Given the description of an element on the screen output the (x, y) to click on. 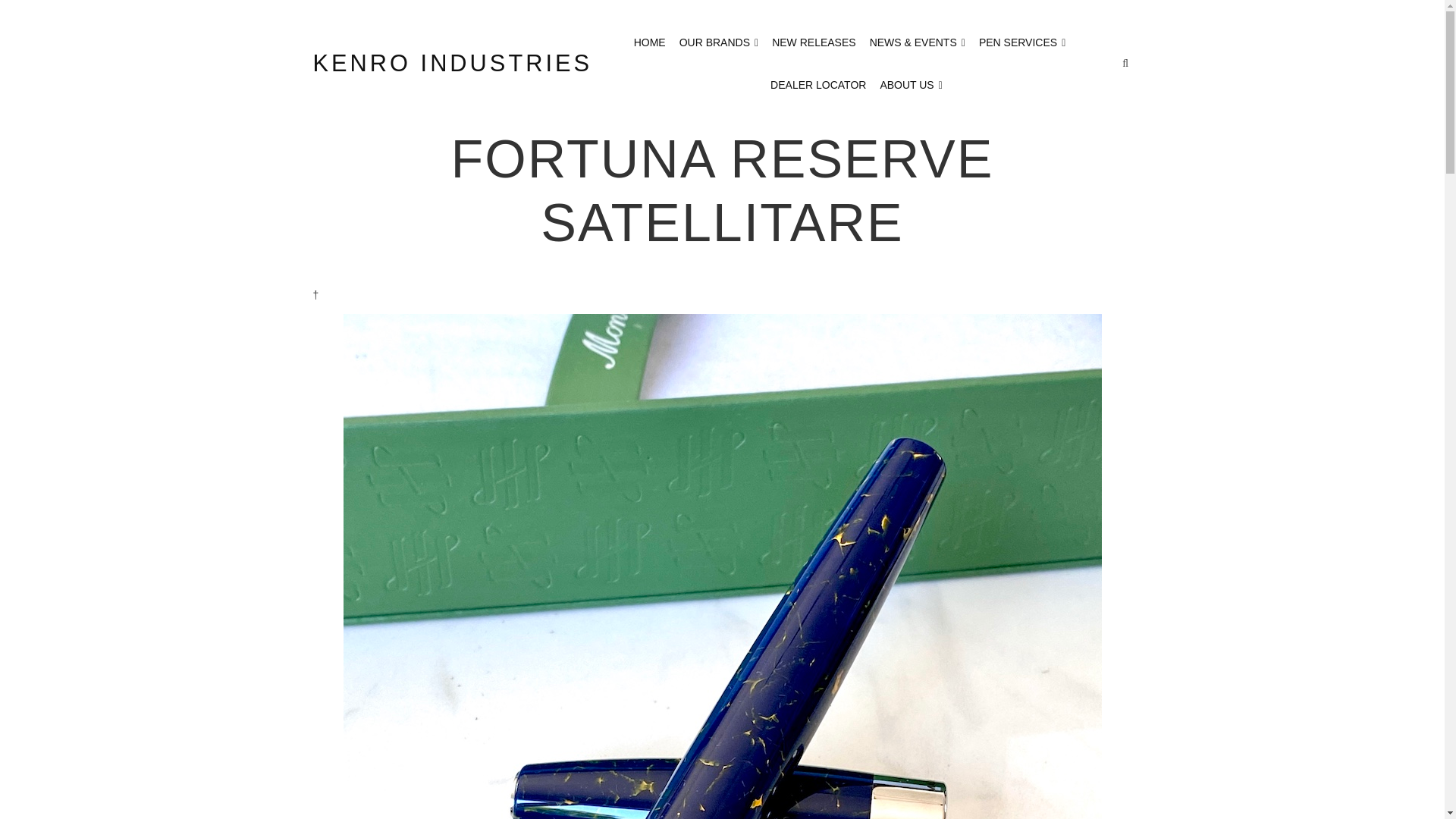
NEW RELEASES (813, 42)
DEALER LOCATOR (818, 84)
OUR BRANDS (718, 42)
PEN SERVICES (1021, 42)
ABOUT US (910, 84)
HOME (649, 42)
KENRO INDUSTRIES (452, 63)
